Given the description of an element on the screen output the (x, y) to click on. 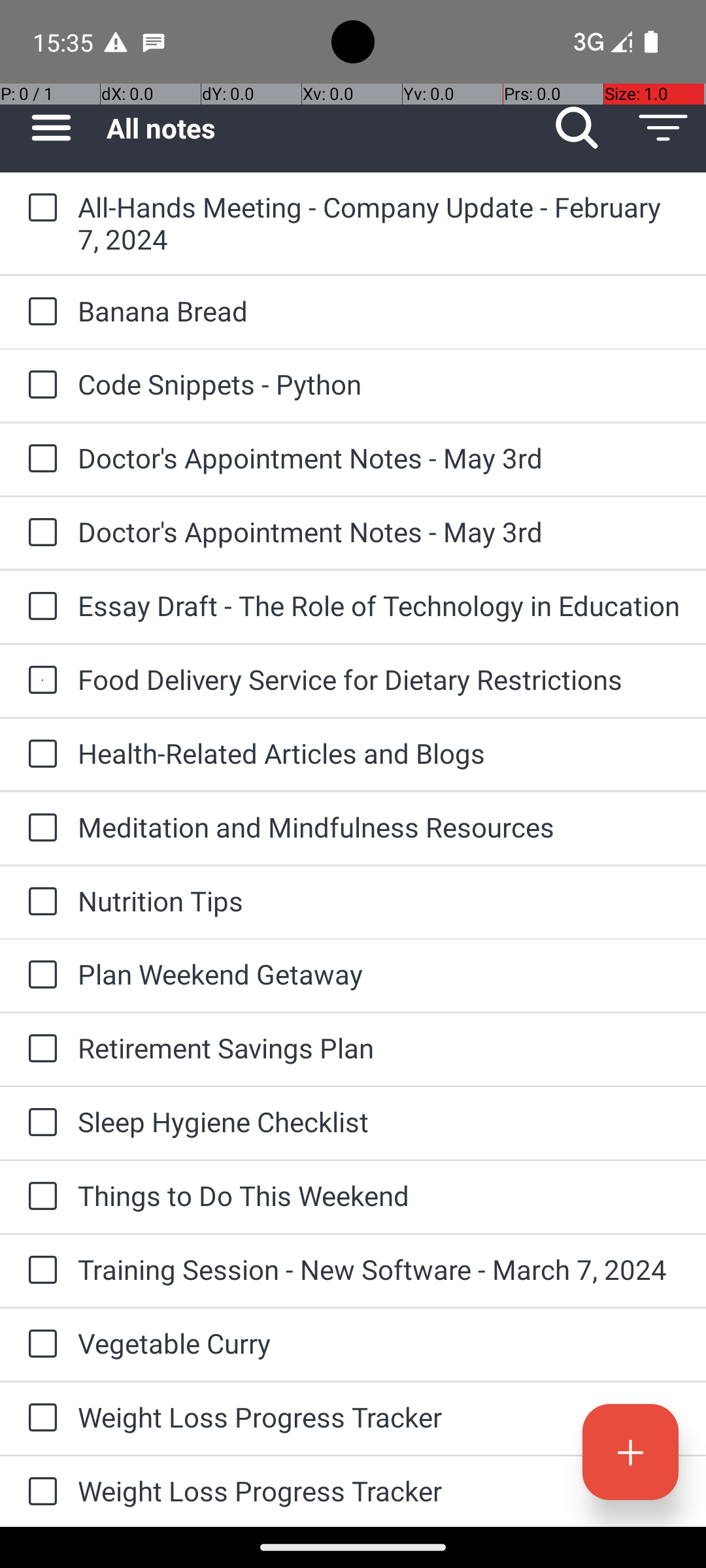
Add new, collapsed Element type: android.widget.Button (630, 1452)
 Element type: android.widget.TextView (630, 1451)
to-do: All-Hands Meeting - Company Update - February 7, 2024 Element type: android.widget.CheckBox (38, 208)
All-Hands Meeting - Company Update - February 7, 2024 Element type: android.widget.TextView (378, 222)
to-do: Banana Bread Element type: android.widget.CheckBox (38, 312)
Banana Bread Element type: android.widget.TextView (378, 310)
to-do: Code Snippets - Python Element type: android.widget.CheckBox (38, 385)
Code Snippets - Python Element type: android.widget.TextView (378, 383)
to-do: Doctor's Appointment Notes - May 3rd Element type: android.widget.CheckBox (38, 459)
Doctor's Appointment Notes - May 3rd Element type: android.widget.TextView (378, 457)
to-do: Essay Draft - The Role of Technology in Education Element type: android.widget.CheckBox (38, 607)
Essay Draft - The Role of Technology in Education Element type: android.widget.TextView (378, 604)
to-do: Food Delivery Service for Dietary Restrictions Element type: android.widget.CheckBox (38, 680)
Food Delivery Service for Dietary Restrictions Element type: android.widget.TextView (378, 678)
to-do: Health-Related Articles and Blogs Element type: android.widget.CheckBox (38, 754)
Health-Related Articles and Blogs Element type: android.widget.TextView (378, 752)
to-do: Meditation and Mindfulness Resources Element type: android.widget.CheckBox (38, 828)
Meditation and Mindfulness Resources Element type: android.widget.TextView (378, 826)
to-do: Nutrition Tips Element type: android.widget.CheckBox (38, 902)
Nutrition Tips Element type: android.widget.TextView (378, 900)
to-do: Plan Weekend Getaway Element type: android.widget.CheckBox (38, 975)
Plan Weekend Getaway Element type: android.widget.TextView (378, 973)
to-do: Retirement Savings Plan Element type: android.widget.CheckBox (38, 1049)
Retirement Savings Plan Element type: android.widget.TextView (378, 1047)
to-do: Sleep Hygiene Checklist Element type: android.widget.CheckBox (38, 1123)
Sleep Hygiene Checklist Element type: android.widget.TextView (378, 1121)
to-do: Things to Do This Weekend Element type: android.widget.CheckBox (38, 1196)
Things to Do This Weekend Element type: android.widget.TextView (378, 1194)
to-do: Training Session - New Software - March 7, 2024 Element type: android.widget.CheckBox (38, 1270)
Training Session - New Software - March 7, 2024 Element type: android.widget.TextView (378, 1268)
to-do: Vegetable Curry Element type: android.widget.CheckBox (38, 1344)
Vegetable Curry Element type: android.widget.TextView (378, 1342)
to-do: Weight Loss Progress Tracker Element type: android.widget.CheckBox (38, 1418)
Weight Loss Progress Tracker Element type: android.widget.TextView (378, 1416)
